Given the description of an element on the screen output the (x, y) to click on. 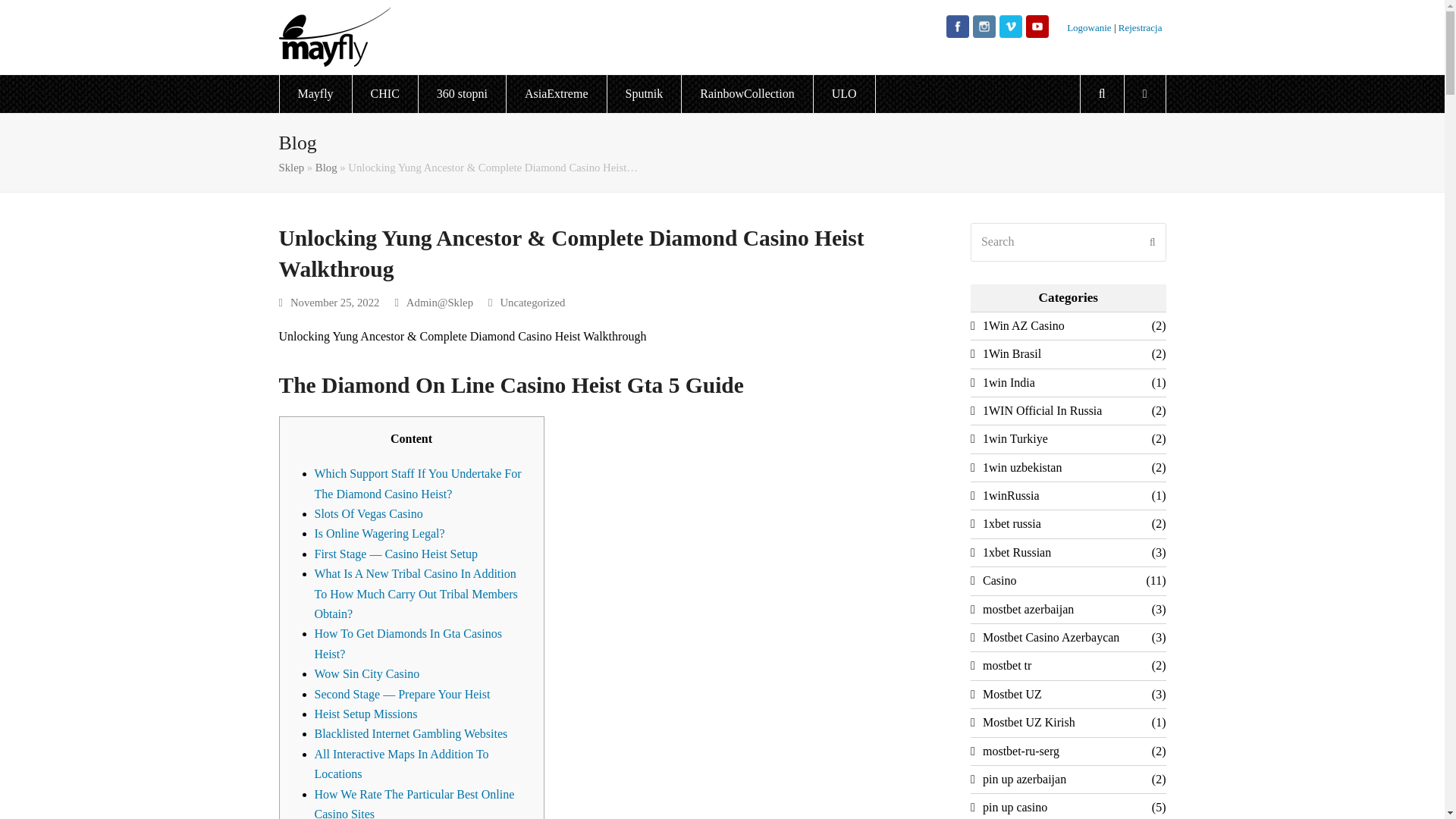
Vimeo (1010, 33)
Youtube (1037, 33)
Sklep (291, 167)
Mayfly (314, 94)
AsiaExtreme (556, 94)
Blog (326, 167)
Facebook (957, 33)
ULO (844, 94)
Sputnik (644, 94)
360 stopni (462, 94)
RainbowCollection (746, 94)
Rejestracja (1138, 27)
Logowanie (1090, 27)
Instagram (983, 33)
CHIC (384, 94)
